Given the description of an element on the screen output the (x, y) to click on. 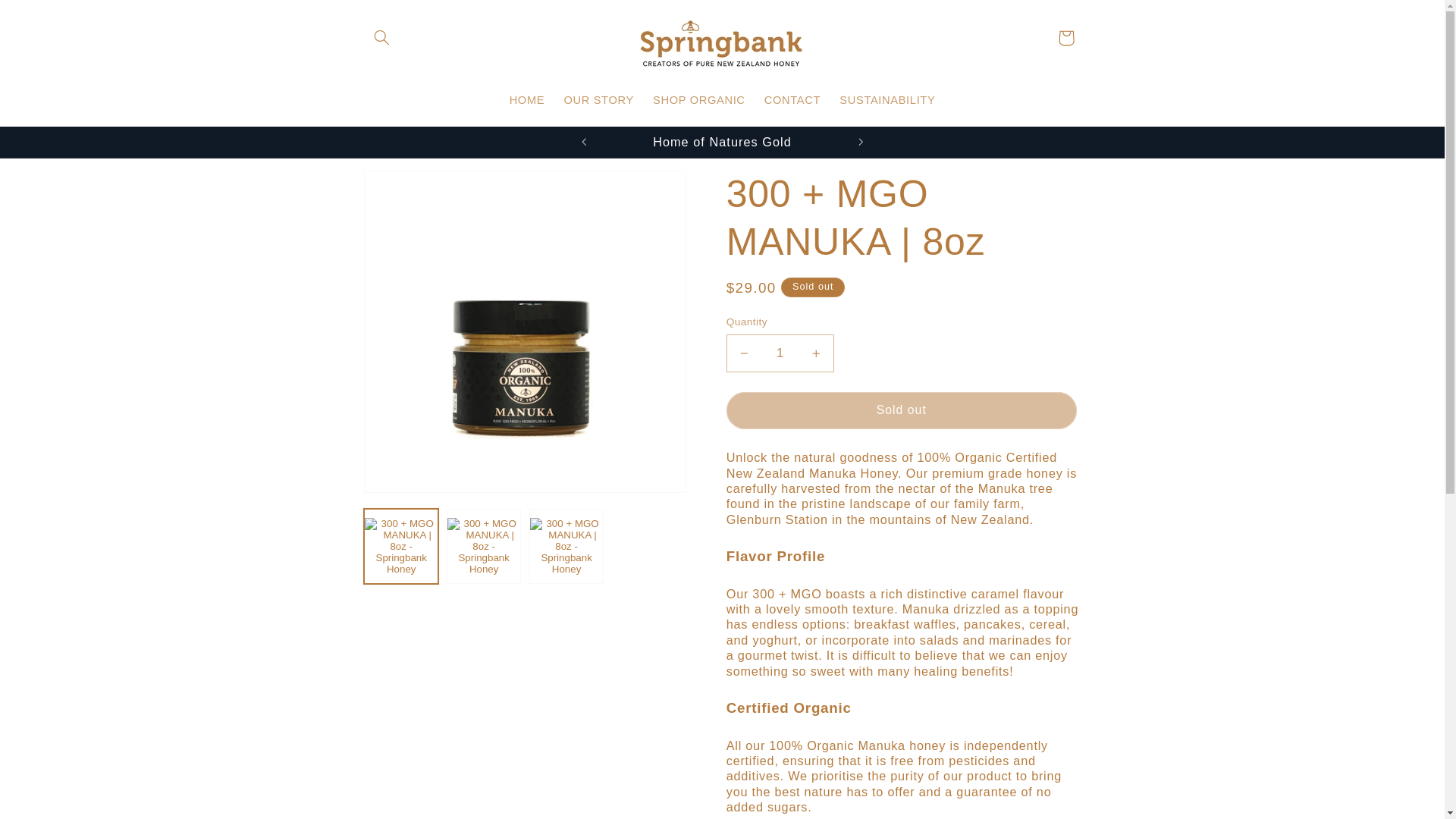
OUR STORY (598, 100)
Cart (1065, 37)
Skip to content (48, 18)
SHOP ORGANIC (698, 100)
Welcome to our Honey Store (975, 142)
SUSTAINABILITY (886, 100)
1 (780, 352)
CONTACT (791, 100)
Skip to product information (411, 188)
HOME (526, 100)
